Given the description of an element on the screen output the (x, y) to click on. 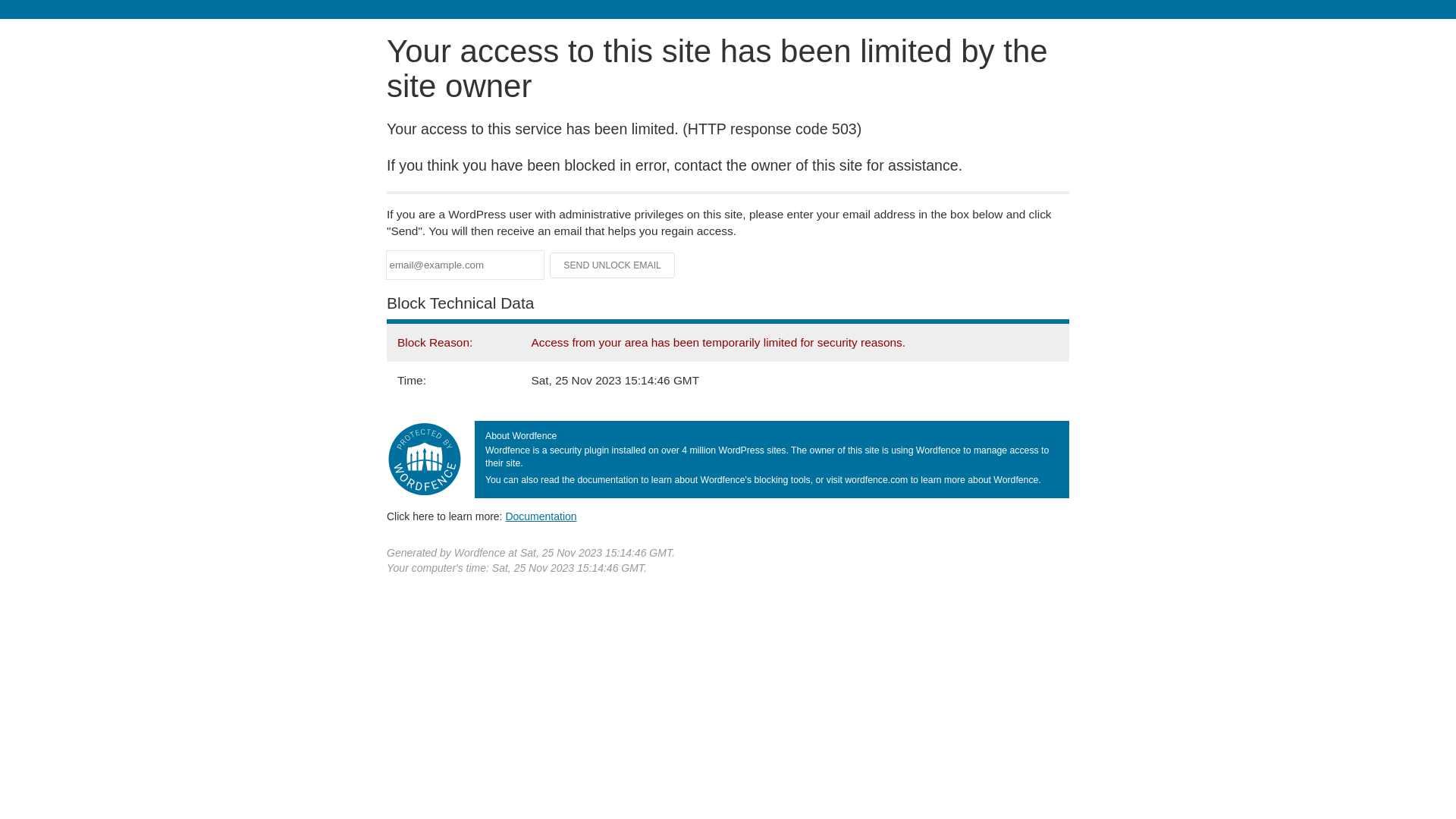
Documentation Element type: text (540, 516)
Send Unlock Email Element type: text (612, 265)
